Given the description of an element on the screen output the (x, y) to click on. 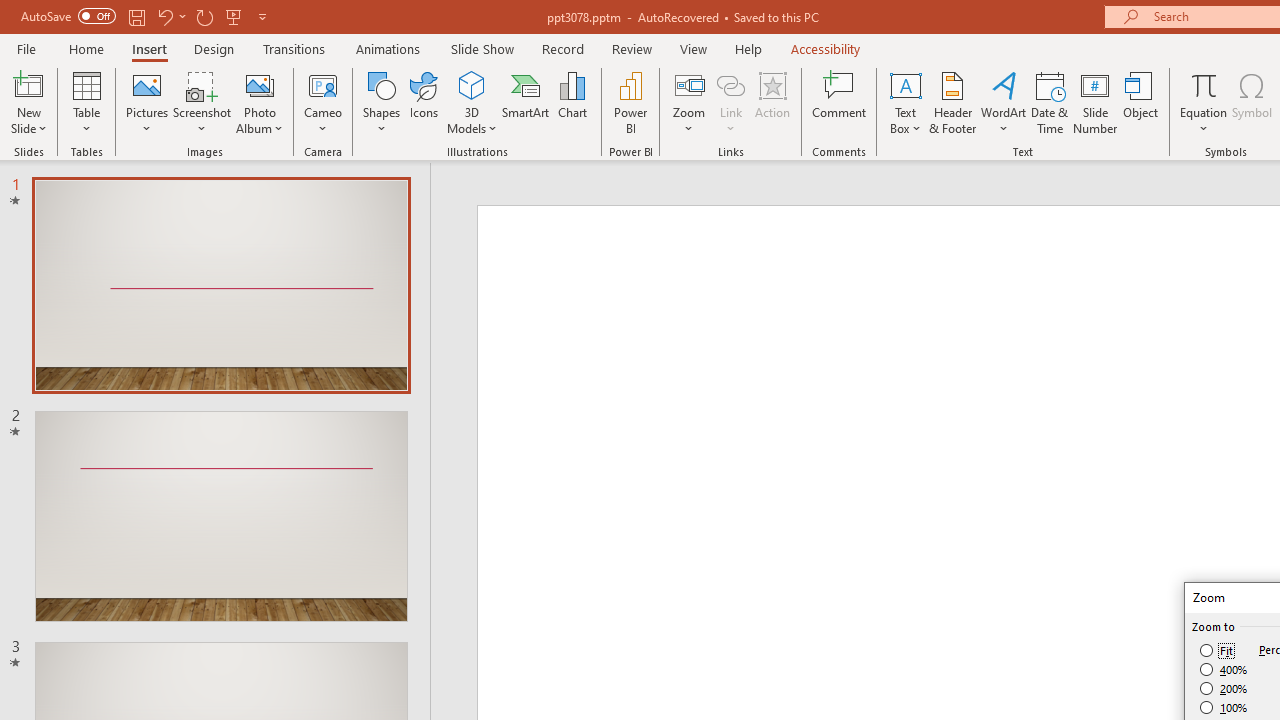
3D Models (472, 102)
WordArt (1004, 102)
200% (1224, 688)
Action (772, 102)
Screenshot (202, 102)
Cameo (323, 102)
